Given the description of an element on the screen output the (x, y) to click on. 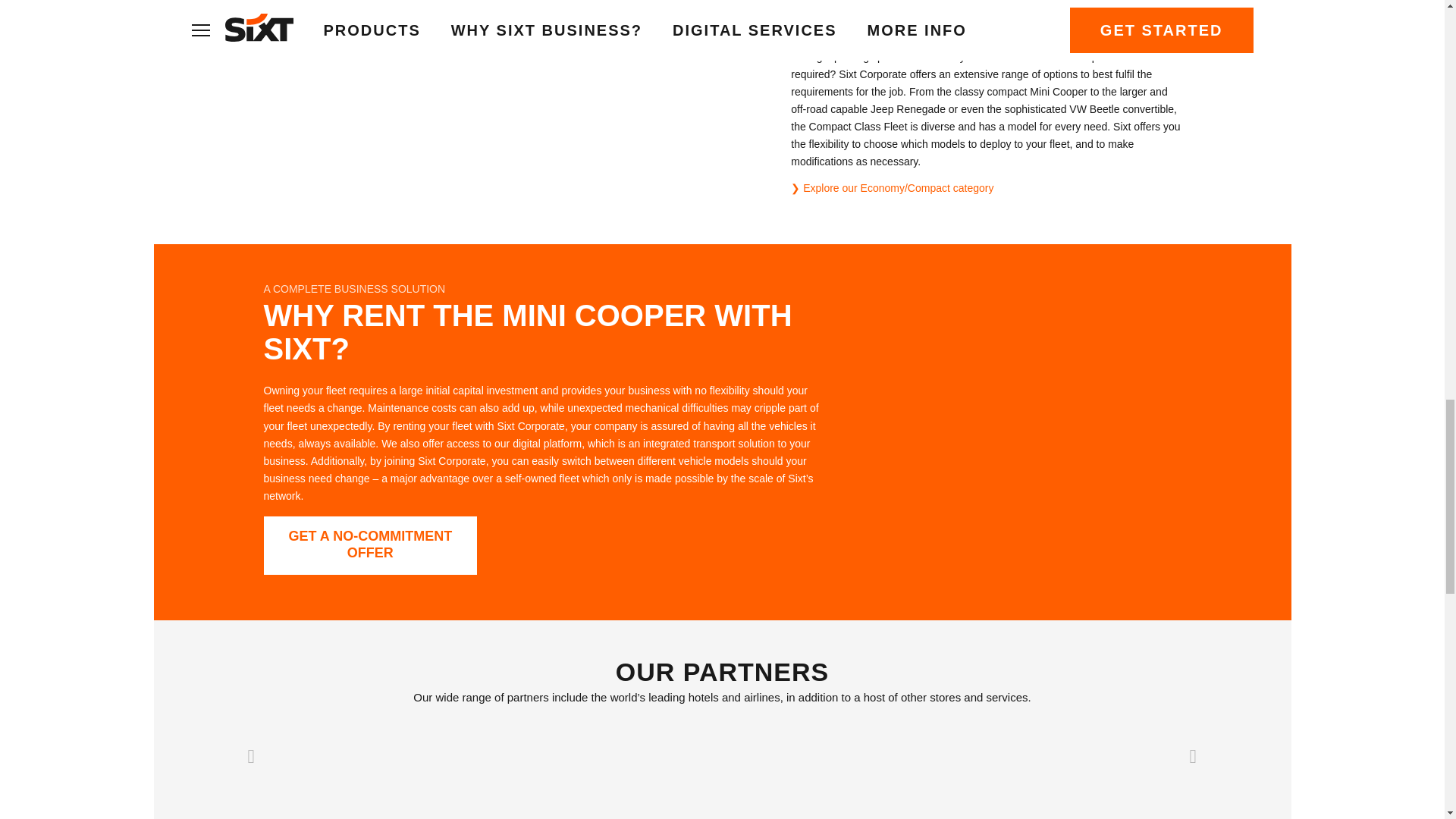
GET A NO-COMMITMENT OFFER (370, 545)
Mini Cooper (1002, 431)
Next (1192, 755)
Previous (252, 755)
